Given the description of an element on the screen output the (x, y) to click on. 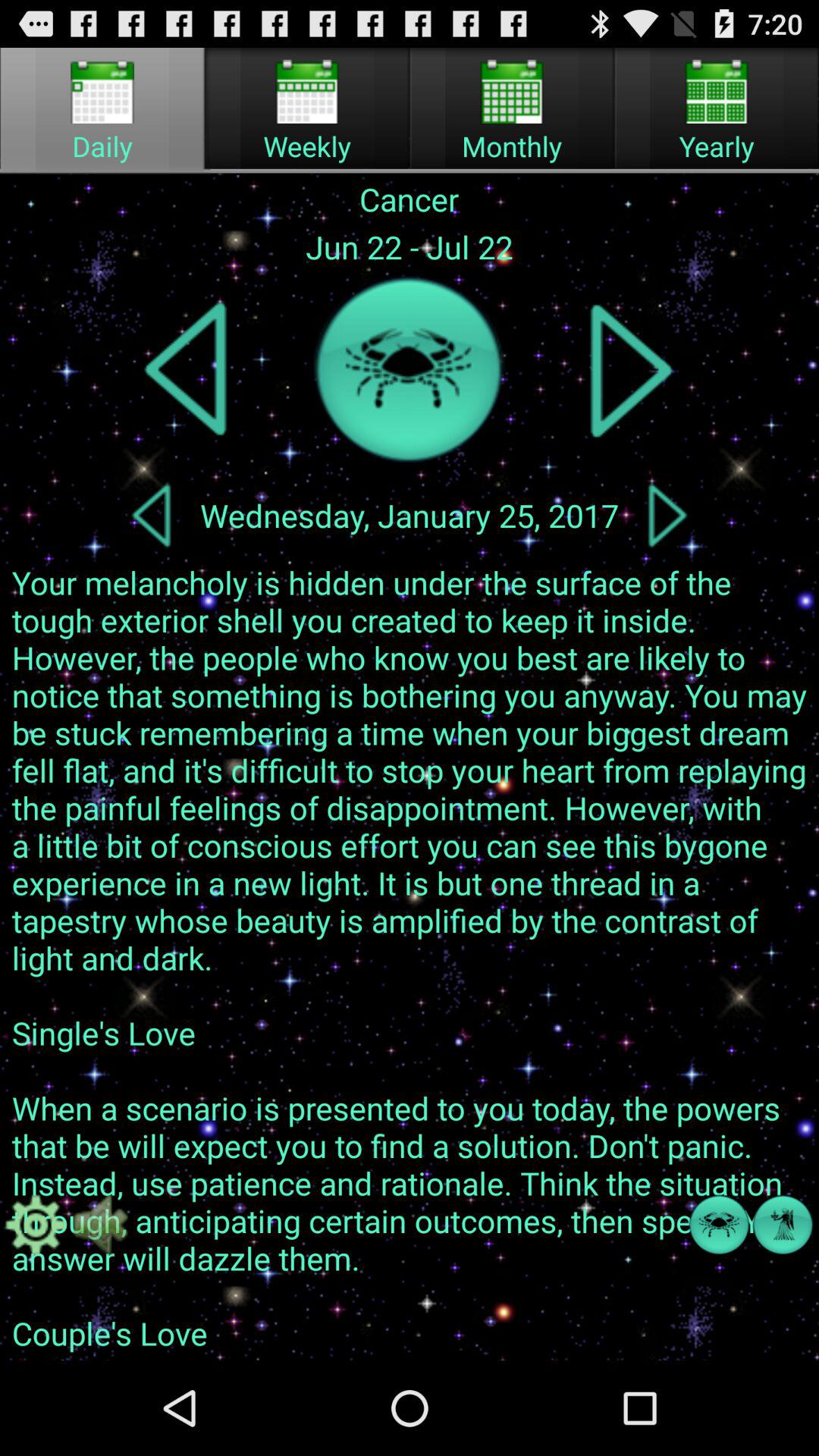
go to the next day (667, 514)
